Given the description of an element on the screen output the (x, y) to click on. 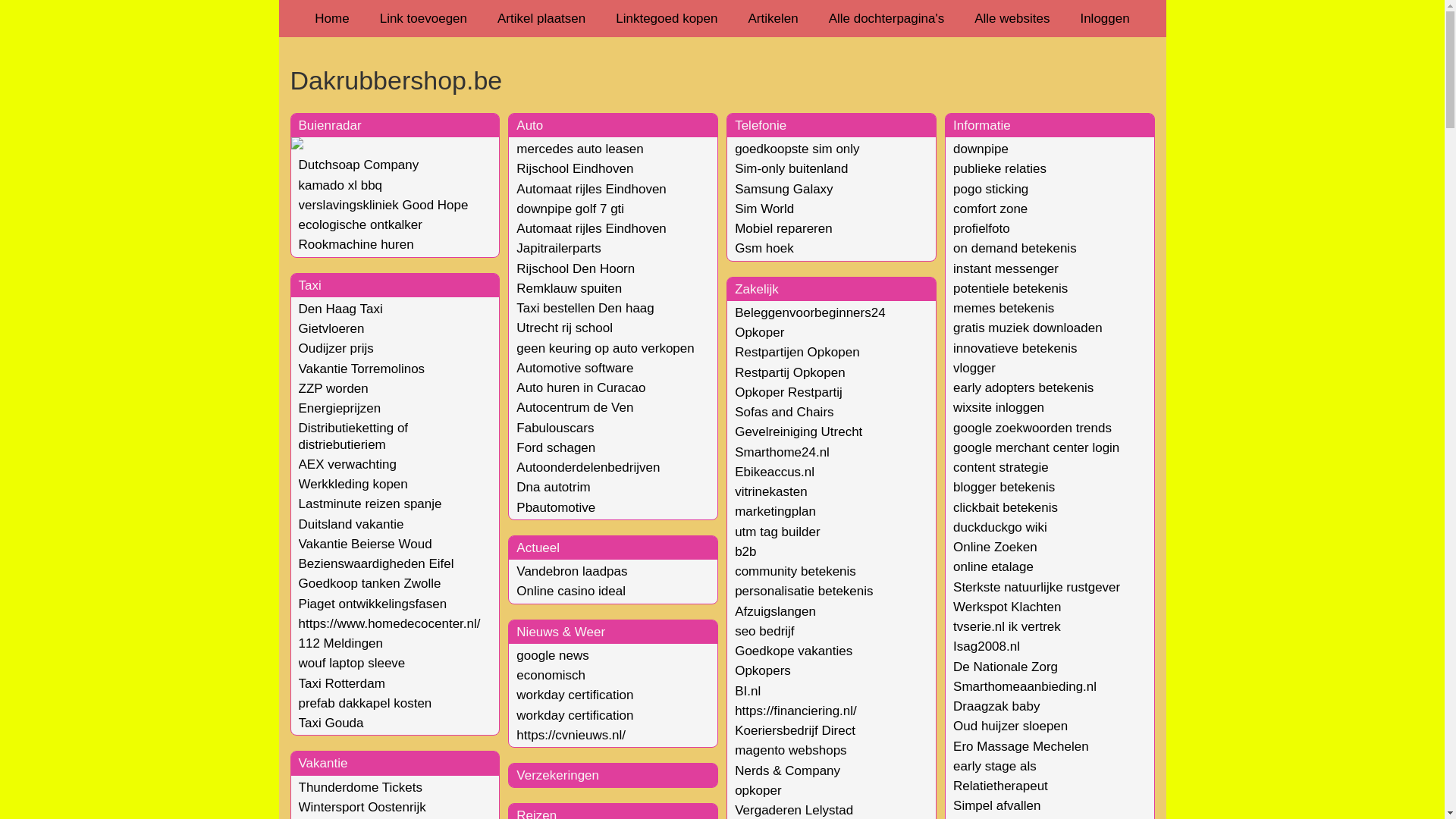
Artikel plaatsen Element type: text (541, 18)
Automotive software Element type: text (574, 367)
pogo sticking Element type: text (990, 189)
innovatieve betekenis Element type: text (1015, 348)
utm tag builder Element type: text (776, 531)
Actueel Element type: text (537, 547)
Werkkleding kopen Element type: text (352, 483)
Dakrubbershop.be Element type: text (721, 80)
workday certification Element type: text (574, 715)
Verzekeringen Element type: text (557, 775)
Ebikeaccus.nl Element type: text (774, 471)
Smarthome24.nl Element type: text (781, 452)
Sim-only buitenland Element type: text (790, 168)
Koeriersbedrijf Direct Element type: text (794, 730)
Home Element type: text (331, 18)
wixsite inloggen Element type: text (998, 407)
google merchant center login Element type: text (1036, 447)
Artikelen Element type: text (772, 18)
Autocentrum de Ven Element type: text (574, 407)
vlogger Element type: text (974, 367)
Auto Element type: text (529, 125)
Gsm hoek Element type: text (763, 248)
Auto huren in Curacao Element type: text (580, 387)
Online casino ideal Element type: text (570, 590)
BI.nl Element type: text (747, 691)
Smarthomeaanbieding.nl Element type: text (1024, 686)
Lastminute reizen spanje Element type: text (370, 503)
b2b Element type: text (745, 551)
Rijschool Den Hoorn Element type: text (575, 268)
Relatietherapeut Element type: text (1000, 785)
Vakantie Beierse Woud Element type: text (365, 543)
tvserie.nl ik vertrek Element type: text (1006, 626)
Distributieketting of distriebutieriem Element type: text (353, 435)
vitrinekasten Element type: text (770, 491)
Link toevoegen Element type: text (423, 18)
workday certification Element type: text (574, 694)
blogger betekenis Element type: text (1003, 487)
ecologische ontkalker Element type: text (360, 224)
downpipe golf 7 gti Element type: text (570, 208)
Telefonie Element type: text (760, 125)
profielfoto Element type: text (981, 228)
Sim World Element type: text (763, 208)
community betekenis Element type: text (795, 571)
Vandebron laadpas Element type: text (571, 571)
Rookmachine huren Element type: text (356, 244)
Thunderdome Tickets Element type: text (360, 787)
Ford schagen Element type: text (555, 447)
Simpel afvallen Element type: text (996, 805)
marketingplan Element type: text (774, 511)
Pbautomotive Element type: text (555, 507)
comfort zone Element type: text (990, 208)
Oudijzer prijs Element type: text (335, 348)
google news Element type: text (552, 655)
online etalage Element type: text (993, 566)
downpipe Element type: text (980, 148)
ZZP worden Element type: text (333, 388)
Online Zoeken Element type: text (995, 546)
Bezienswaardigheden Eifel Element type: text (376, 563)
mercedes auto leasen Element type: text (579, 148)
Den Haag Taxi Element type: text (340, 308)
goedkoopste sim only Element type: text (796, 148)
Nerds & Company Element type: text (787, 770)
Taxi Gouda Element type: text (331, 722)
duckduckgo wiki Element type: text (1000, 527)
Automaat rijles Eindhoven Element type: text (591, 228)
publieke relaties Element type: text (999, 168)
Dutchsoap Company Element type: text (358, 164)
content strategie Element type: text (1000, 467)
https://financiering.nl/ Element type: text (795, 710)
Fabulouscars Element type: text (554, 427)
potentiele betekenis Element type: text (1010, 288)
Werkspot Klachten Element type: text (1006, 606)
memes betekenis Element type: text (1003, 308)
gratis muziek downloaden Element type: text (1027, 327)
Vakantie Torremolinos Element type: text (361, 368)
AEX verwachting Element type: text (347, 464)
Taxi Element type: text (309, 285)
112 Meldingen Element type: text (340, 643)
Goedkoop tanken Zwolle Element type: text (369, 583)
Buienradar Element type: text (329, 125)
Nieuws & Weer Element type: text (560, 631)
Autoonderdelenbedrijven Element type: text (587, 467)
Gevelreiniging Utrecht Element type: text (798, 431)
wouf laptop sleeve Element type: text (351, 662)
opkoper Element type: text (757, 790)
Inloggen Element type: text (1104, 18)
Utrecht rij school Element type: text (564, 327)
Alle dochterpagina's Element type: text (886, 18)
magento webshops Element type: text (790, 750)
Sterkste natuurlijke rustgever Element type: text (1036, 587)
Japitrailerparts Element type: text (558, 248)
Remklauw spuiten Element type: text (568, 288)
Vakantie Element type: text (323, 763)
Energieprijzen Element type: text (339, 408)
Sofas and Chairs Element type: text (783, 411)
Wintersport Oostenrijk Element type: text (362, 807)
Alle websites Element type: text (1011, 18)
Draagzak baby Element type: text (996, 706)
kamado xl bbq Element type: text (340, 185)
Mobiel repareren Element type: text (783, 228)
Taxi bestellen Den haag Element type: text (584, 308)
Restpartij Opkopen Element type: text (789, 372)
Goedkope vakanties Element type: text (793, 650)
on demand betekenis Element type: text (1014, 248)
clickbait betekenis Element type: text (1005, 507)
Opkoper Restpartij Element type: text (788, 392)
seo bedrijf Element type: text (763, 631)
Rijschool Eindhoven Element type: text (574, 168)
Linktegoed kopen Element type: text (666, 18)
Ero Massage Mechelen Element type: text (1020, 746)
Gietvloeren Element type: text (331, 328)
Beleggenvoorbeginners24 Element type: text (809, 312)
economisch Element type: text (550, 675)
early adopters betekenis Element type: text (1023, 387)
prefab dakkapel kosten Element type: text (365, 703)
Zakelijk Element type: text (756, 289)
Informatie Element type: text (981, 125)
Opkopers Element type: text (762, 670)
early stage als Element type: text (994, 766)
Samsung Galaxy Element type: text (783, 189)
Piaget ontwikkelingsfasen Element type: text (372, 603)
De Nationale Zorg Element type: text (1005, 666)
Opkoper Element type: text (759, 332)
google zoekwoorden trends Element type: text (1032, 427)
Automaat rijles Eindhoven Element type: text (591, 189)
https://cvnieuws.nl/ Element type: text (570, 735)
Taxi Rotterdam Element type: text (341, 683)
https://www.homedecocenter.nl/ Element type: text (389, 623)
Restpartijen Opkopen Element type: text (796, 352)
personalisatie betekenis Element type: text (803, 590)
Duitsland vakantie Element type: text (351, 524)
Isag2008.nl Element type: text (986, 646)
Oud huijzer sloepen Element type: text (1010, 725)
Afzuigslangen Element type: text (774, 611)
Vergaderen Lelystad Element type: text (793, 810)
instant messenger Element type: text (1005, 268)
geen keuring op auto verkopen Element type: text (604, 348)
verslavingskliniek Good Hope Element type: text (383, 204)
Dna autotrim Element type: text (552, 487)
